Given the description of an element on the screen output the (x, y) to click on. 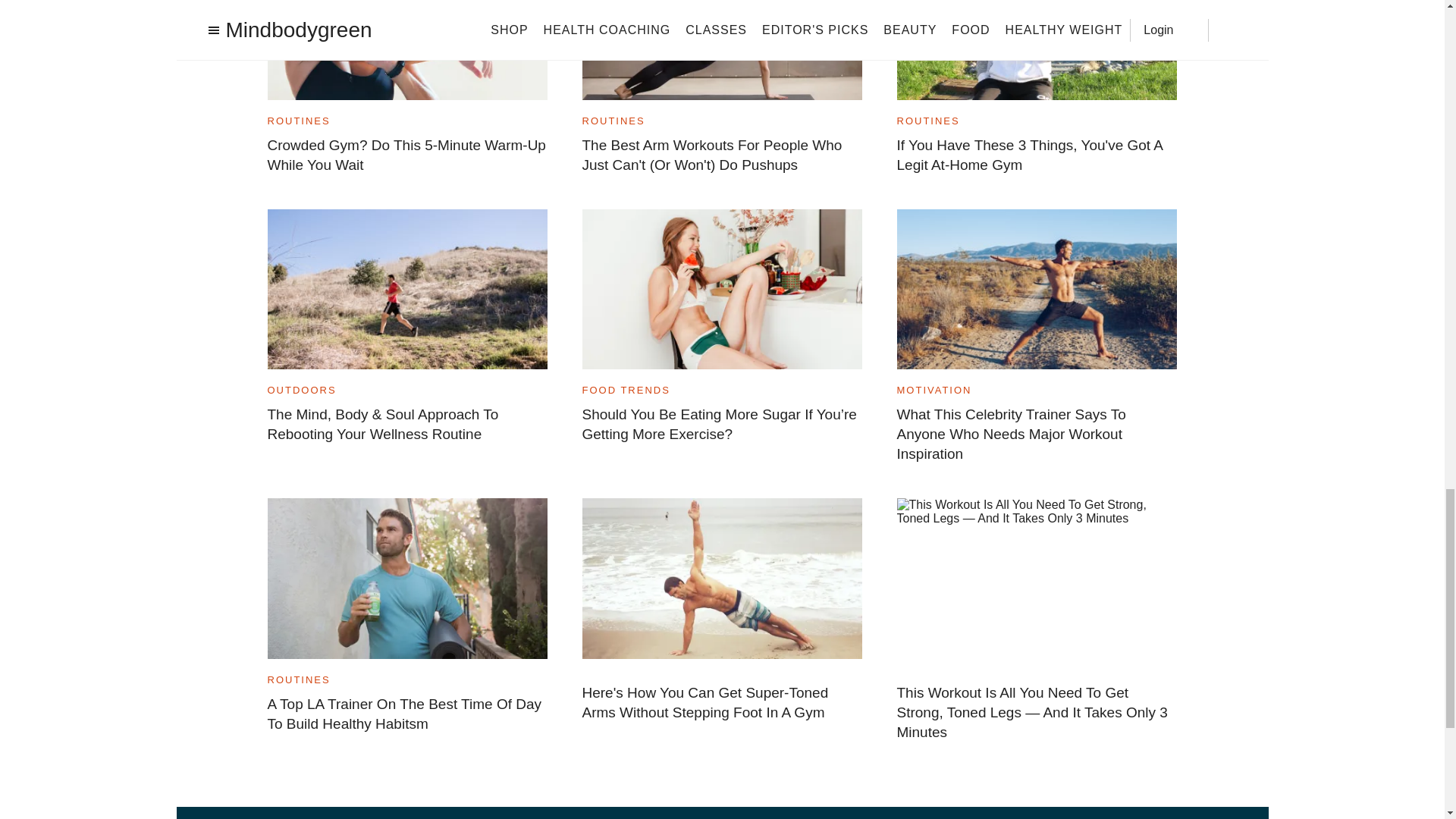
ROUTINES (298, 120)
OUTDOORS (301, 389)
Crowded Gym? Do This 5-Minute Warm-Up While You Wait (406, 155)
ROUTINES (613, 120)
FOOD TRENDS (625, 389)
If You Have These 3 Things, You've Got A Legit At-Home Gym (1036, 155)
ROUTINES (927, 120)
